Given the description of an element on the screen output the (x, y) to click on. 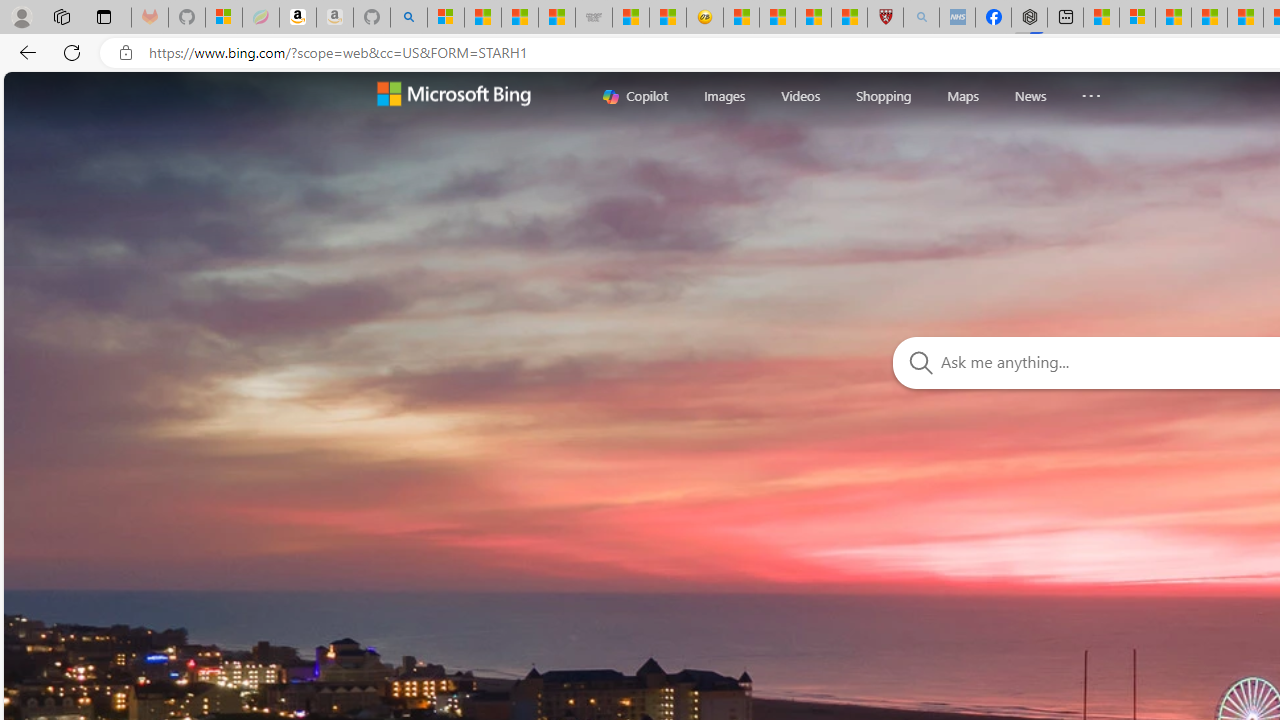
Maps (963, 95)
Maps (963, 95)
Videos (800, 95)
12 Popular Science Lies that Must be Corrected (849, 17)
Recipes - MSN (741, 17)
Images (725, 95)
Welcome to Bing Search (452, 96)
